Given the description of an element on the screen output the (x, y) to click on. 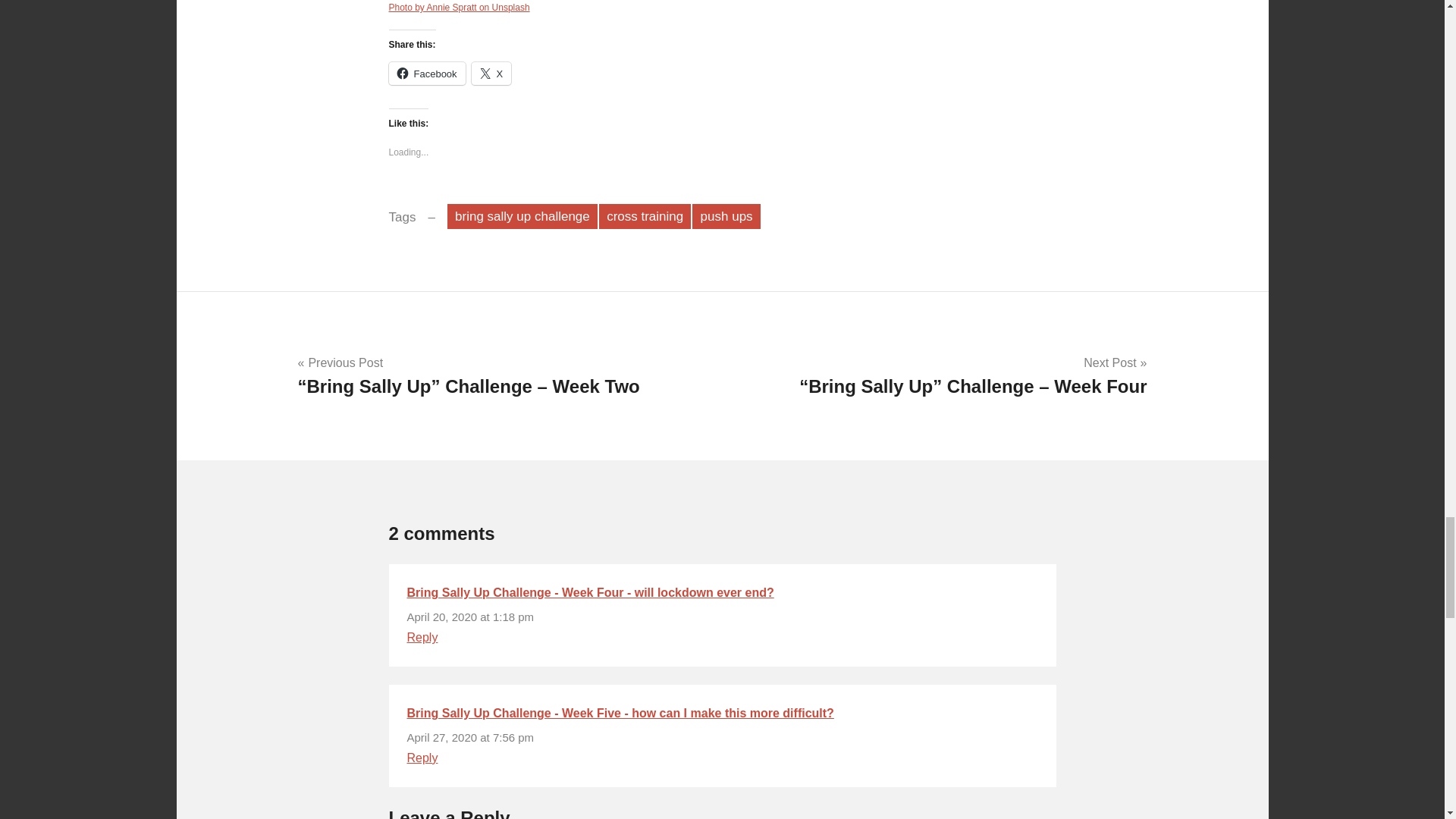
X (491, 73)
Click to share on X (491, 73)
Reply (422, 757)
Facebook (426, 73)
Reply (422, 636)
push ups (726, 216)
April 20, 2020 at 1:18 pm (470, 616)
cross training (644, 216)
April 27, 2020 at 7:56 pm (470, 737)
